Given the description of an element on the screen output the (x, y) to click on. 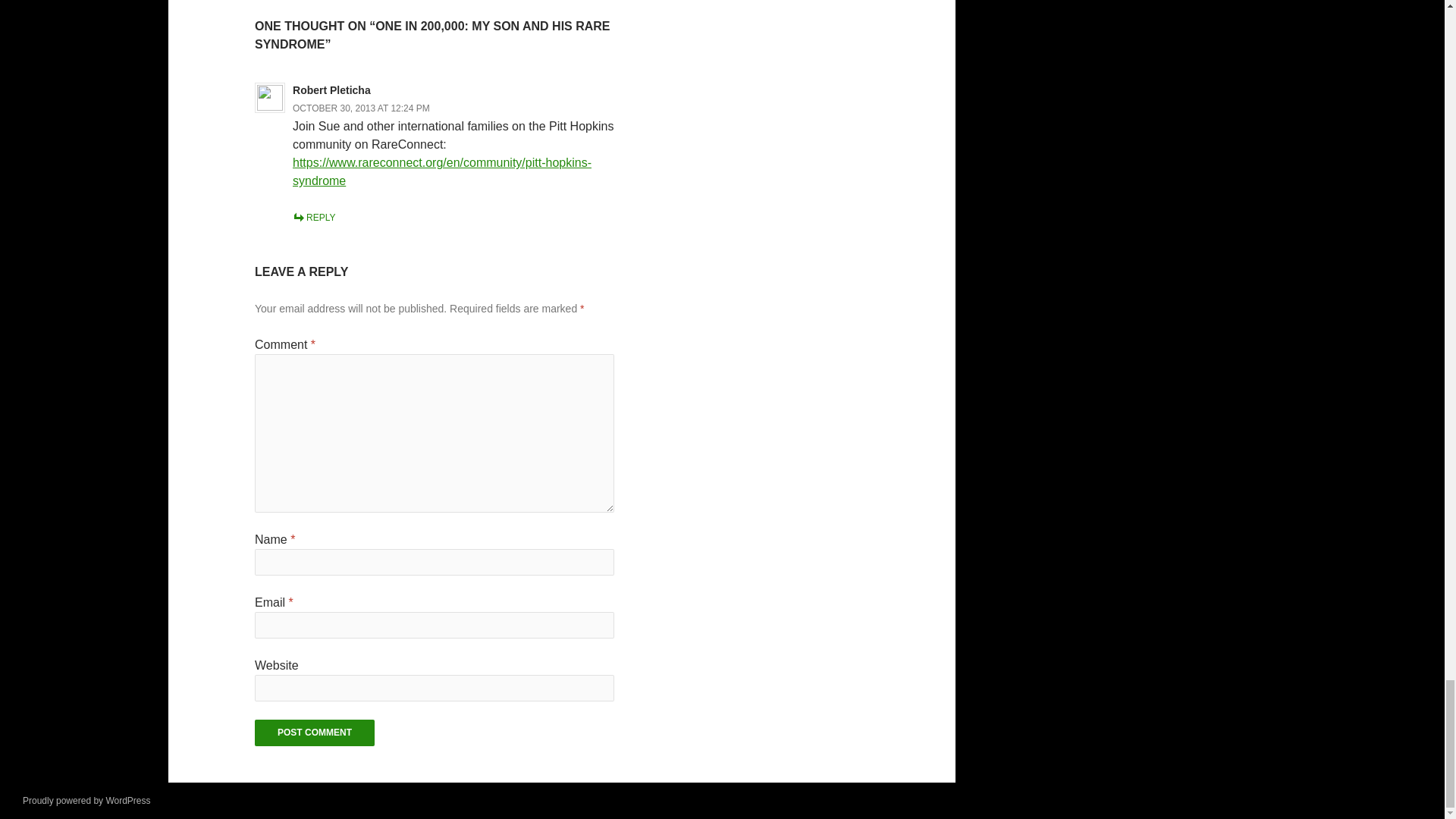
OCTOBER 30, 2013 AT 12:24 PM (360, 108)
REPLY (313, 217)
Robert Pleticha (331, 90)
Post Comment (314, 732)
Post Comment (314, 732)
